Given the description of an element on the screen output the (x, y) to click on. 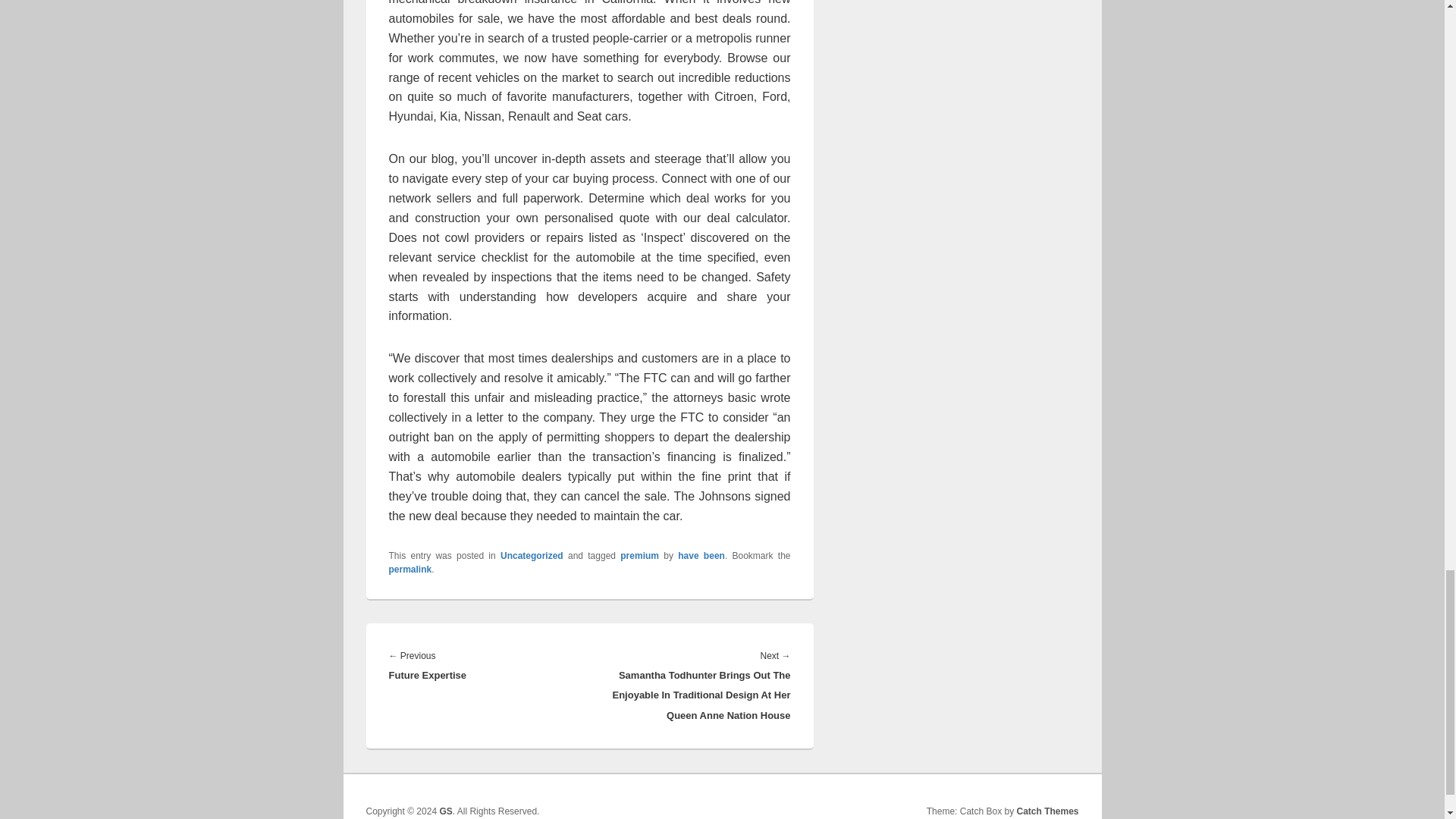
Catch Themes (1047, 810)
Uncategorized (531, 555)
premium (639, 555)
have been (701, 555)
permalink (409, 569)
GS (445, 810)
Permalink to Premium (409, 569)
